Given the description of an element on the screen output the (x, y) to click on. 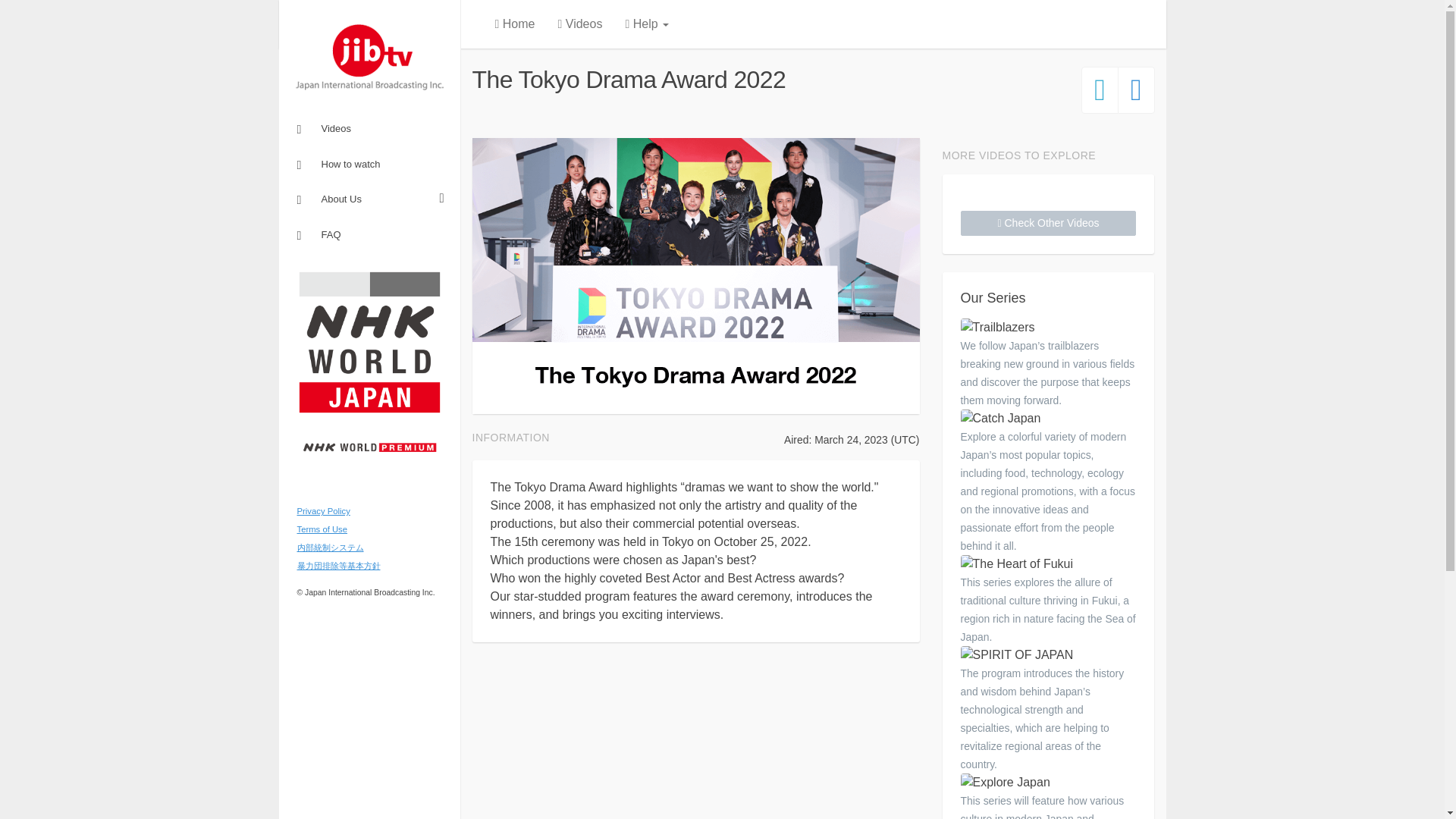
Videos (579, 24)
Check Other Videos (1047, 222)
About Us (369, 198)
Japan International Broadcasting Inc. (370, 57)
FAQ (369, 234)
Help (645, 24)
Home (515, 24)
How to watch (369, 162)
Terms of Use (322, 528)
Videos (369, 128)
Privacy Policy (323, 510)
